Given the description of an element on the screen output the (x, y) to click on. 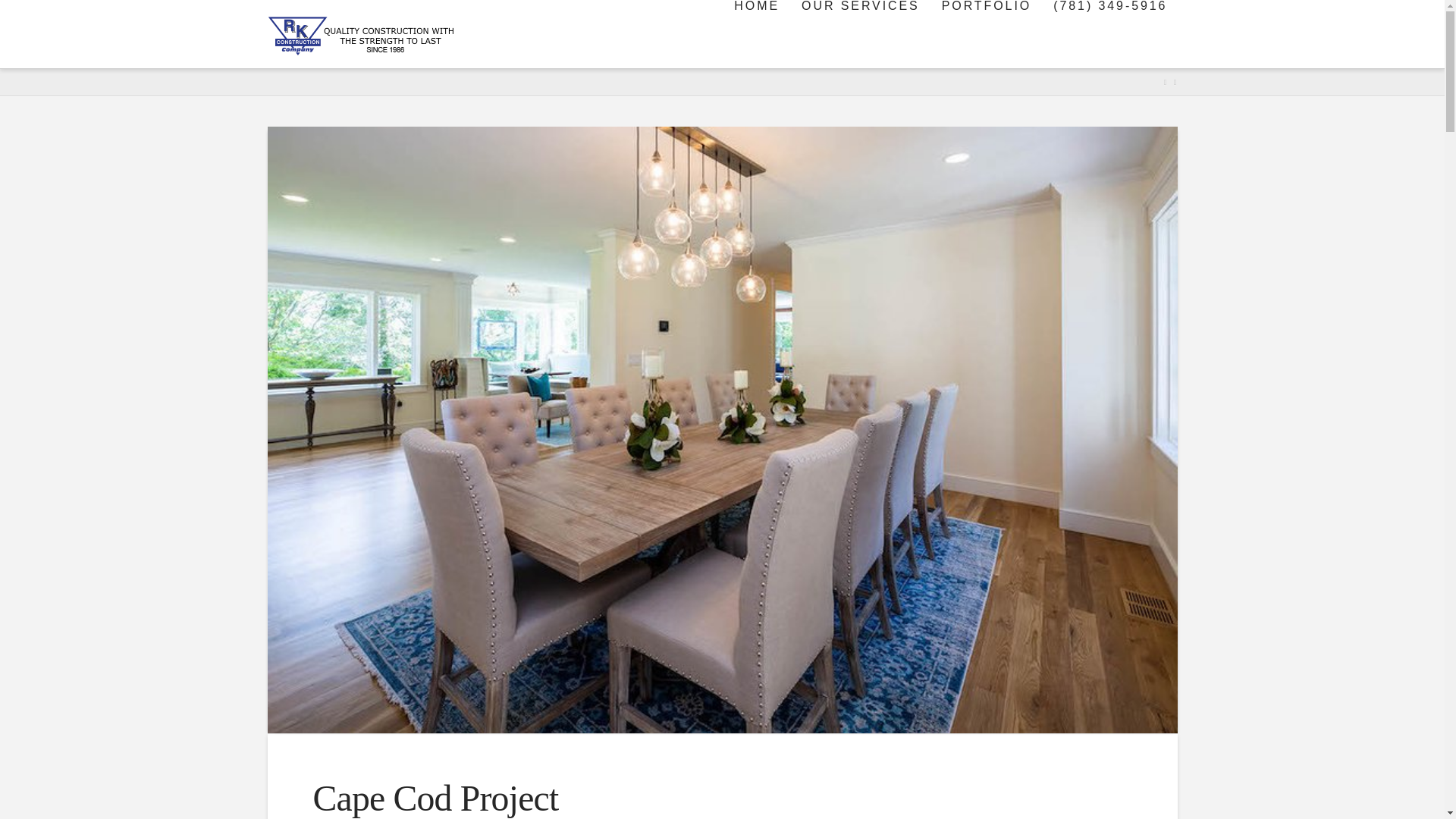
OUR SERVICES (859, 33)
PORTFOLIO (985, 33)
HOME (755, 33)
